Given the description of an element on the screen output the (x, y) to click on. 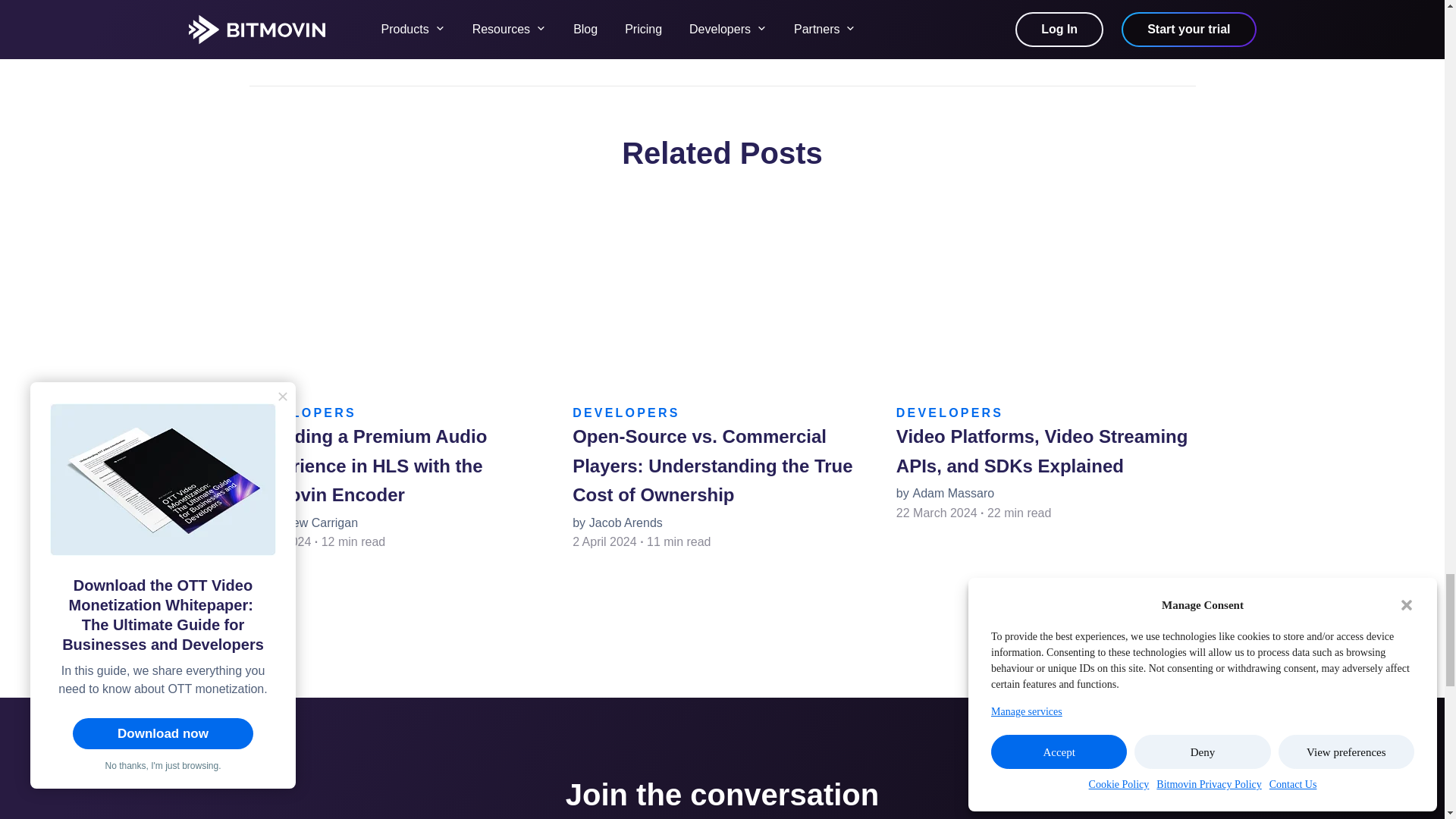
Jacob Arends (625, 522)
Adam Massaro (953, 492)
Mathew Carrigan (311, 522)
